Given the description of an element on the screen output the (x, y) to click on. 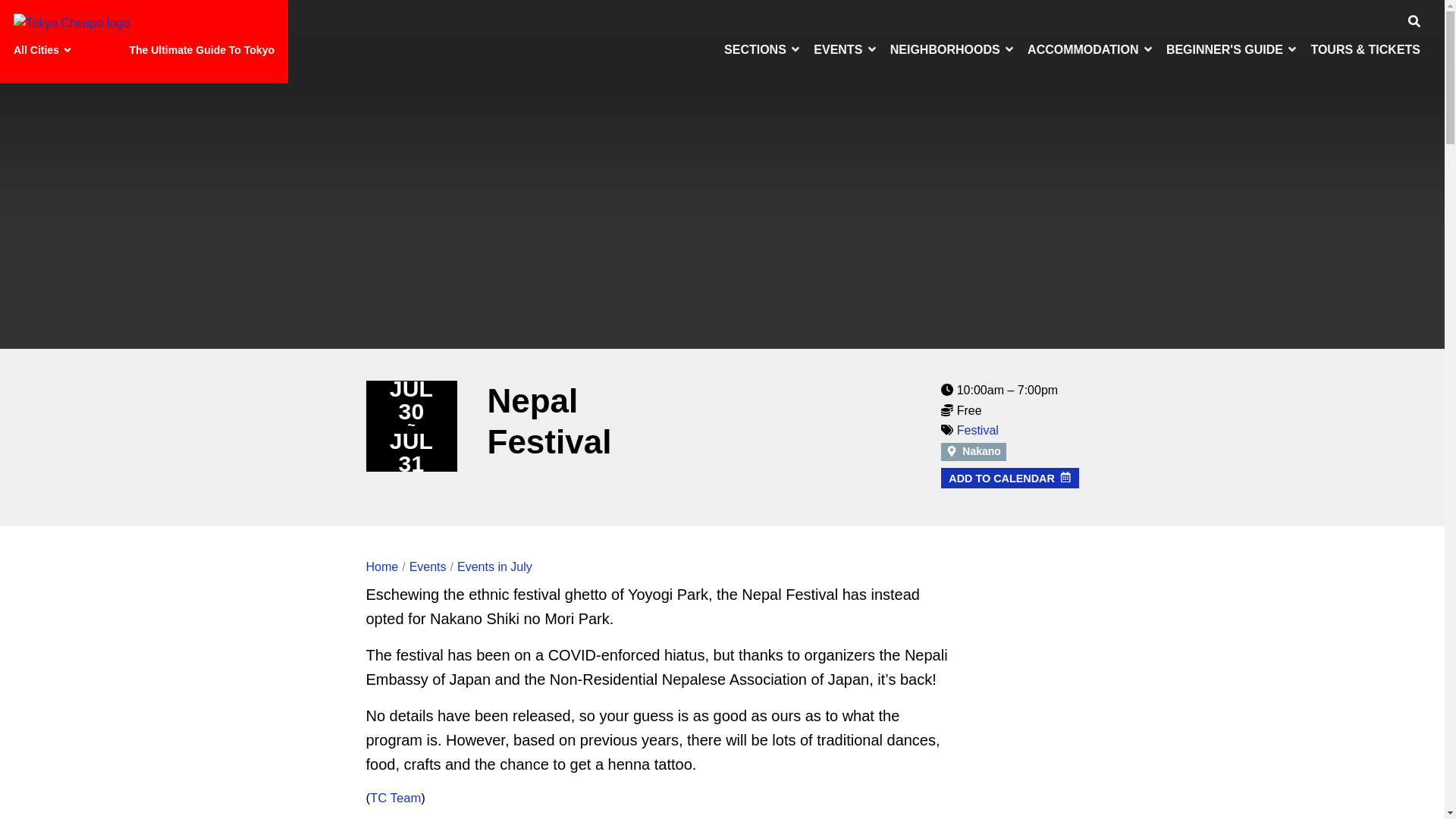
All Cities (45, 50)
Tokyo Cheapo Homepage (71, 22)
Tokyo Cheapo (71, 23)
Sections (762, 49)
SECTIONS (762, 49)
NEIGHBORHOODS (952, 49)
EVENTS (845, 49)
